Given the description of an element on the screen output the (x, y) to click on. 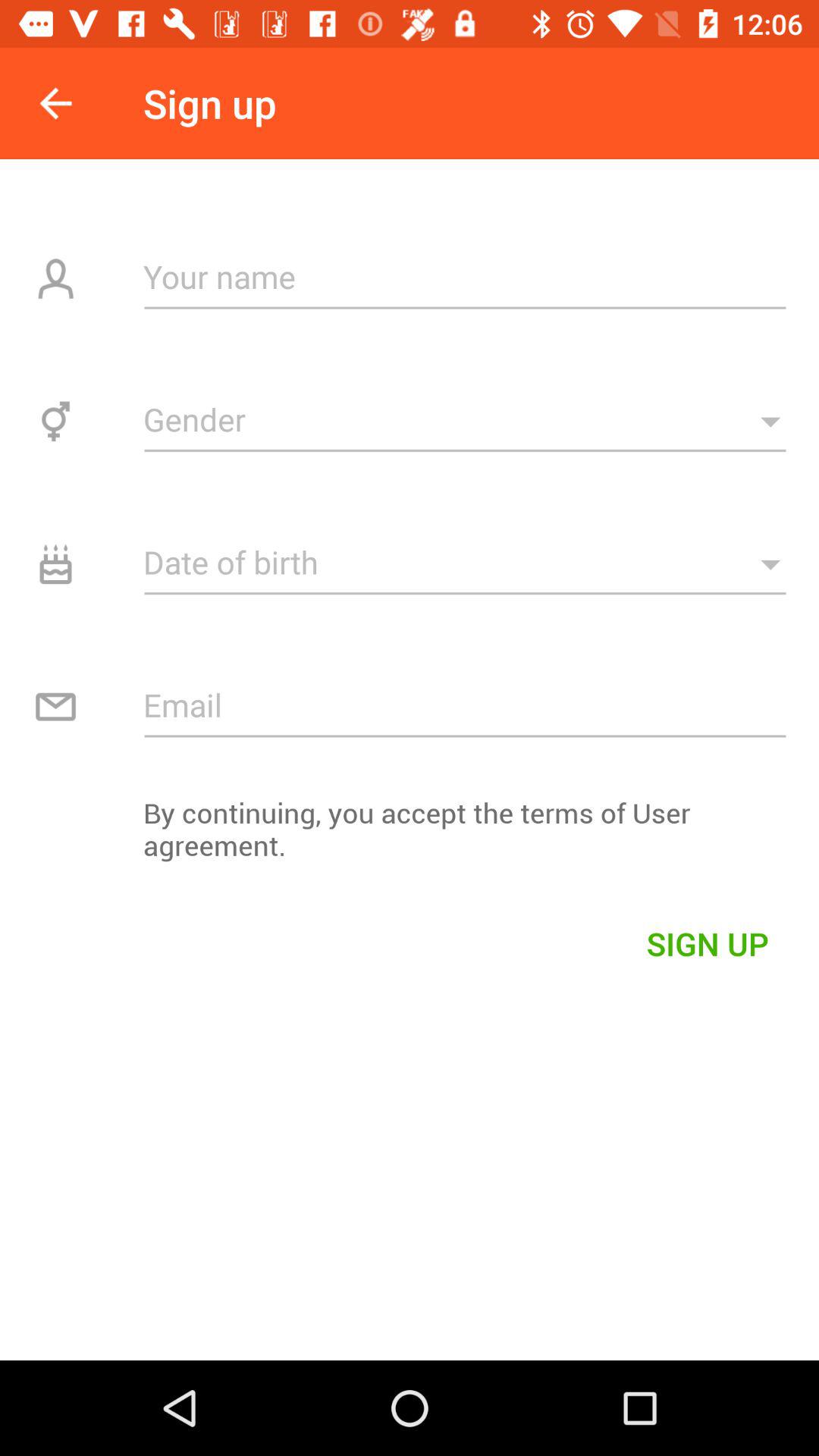
enter email (465, 704)
